Given the description of an element on the screen output the (x, y) to click on. 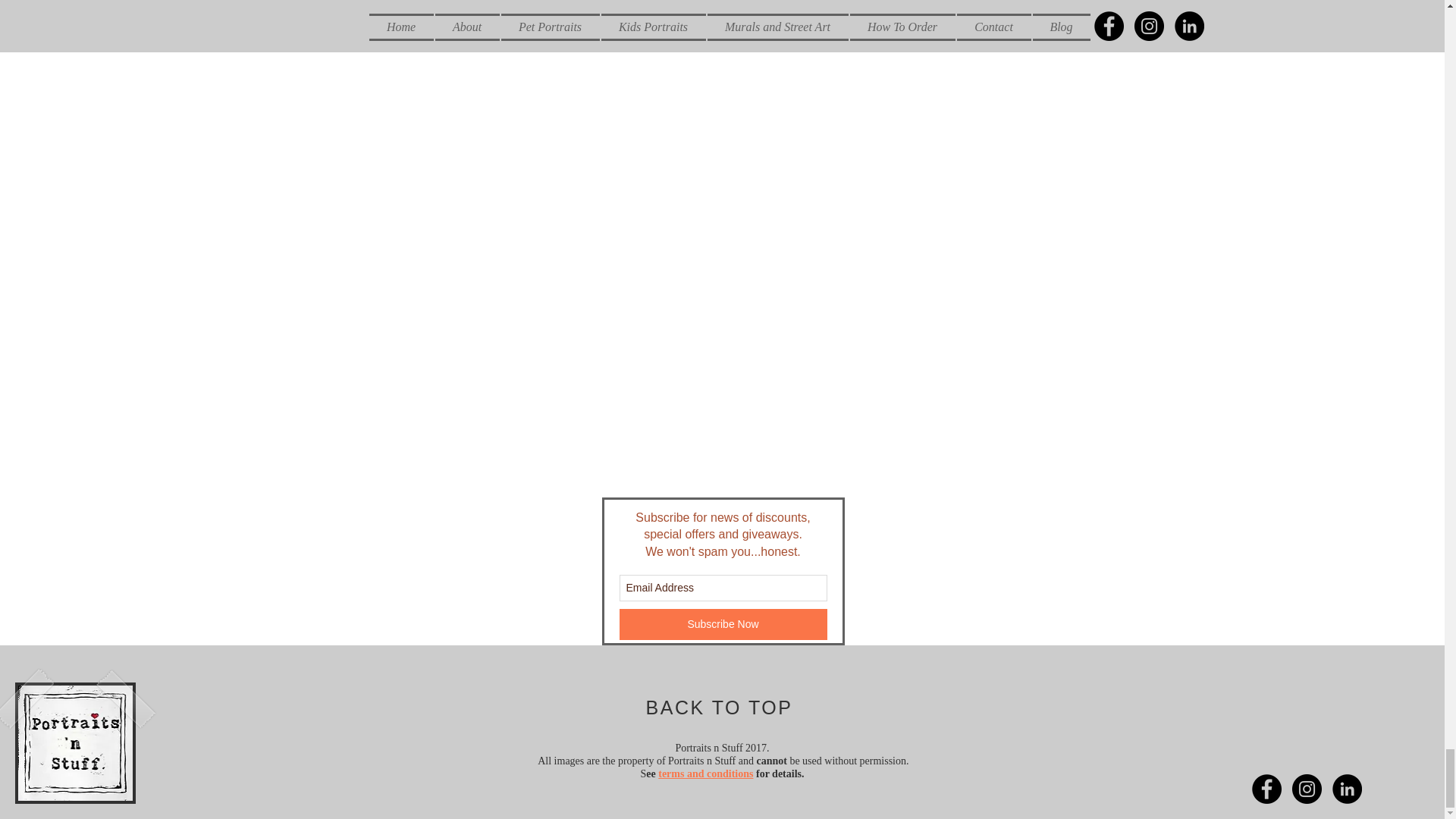
BACK TO TOP (719, 707)
Subscribe Now (722, 624)
